Given the description of an element on the screen output the (x, y) to click on. 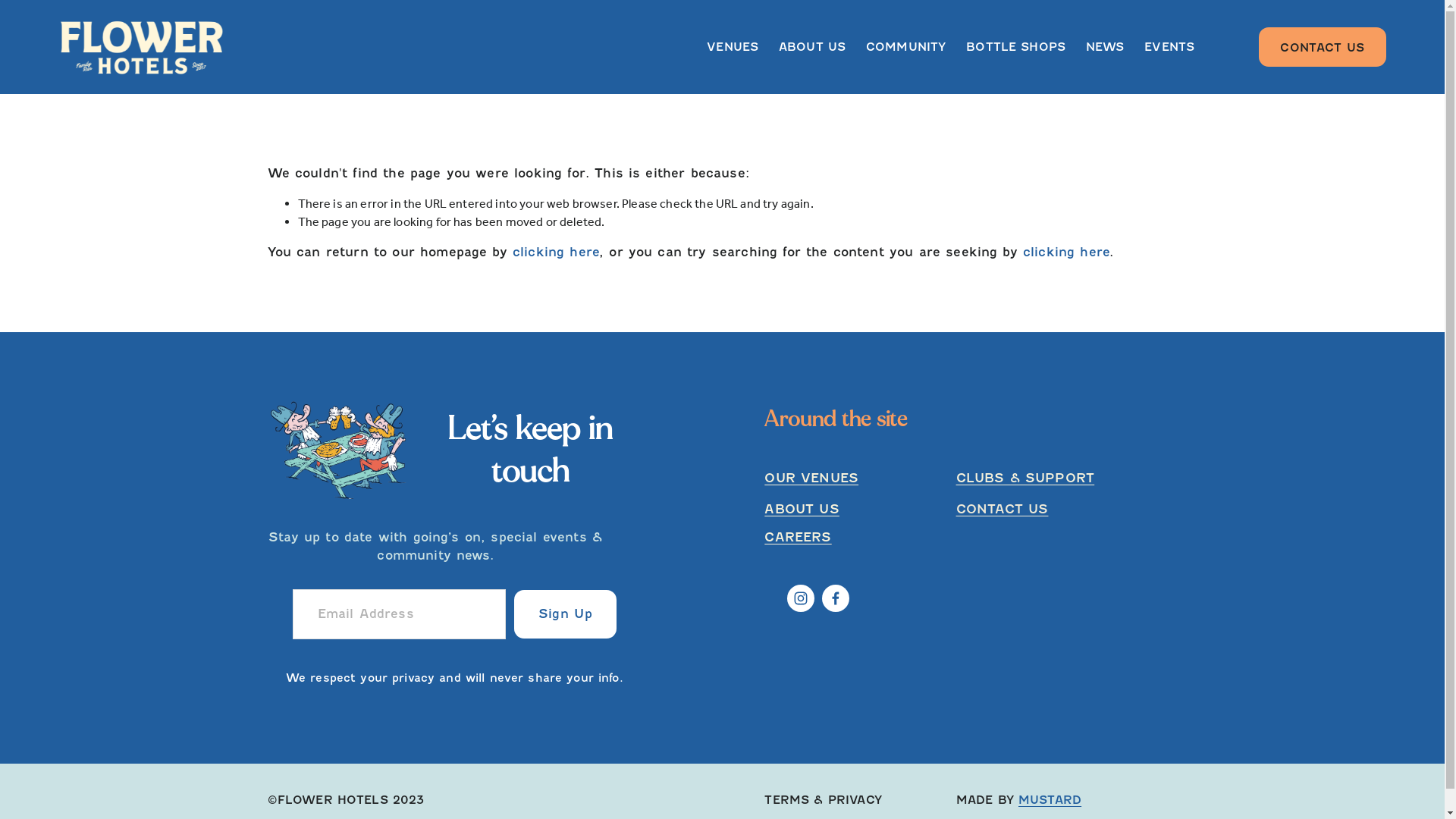
ABOUT US Element type: text (801, 509)
CONTACT US Element type: text (1002, 509)
Sign Up Element type: text (565, 613)
CAREERS Element type: text (797, 537)
ABOUT US Element type: text (811, 46)
BOTTLE SHOPS Element type: text (1015, 46)
MUSTARD Element type: text (1049, 799)
NEWS Element type: text (1104, 46)
clicking here Element type: text (1065, 251)
OUR VENUES Element type: text (811, 478)
VENUES Element type: text (732, 46)
CONTACT US Element type: text (1322, 46)
COMMUNITY Element type: text (905, 46)
CLUBS & SUPPORT Element type: text (1025, 478)
EVENTS Element type: text (1169, 46)
clicking here Element type: text (555, 251)
